Given the description of an element on the screen output the (x, y) to click on. 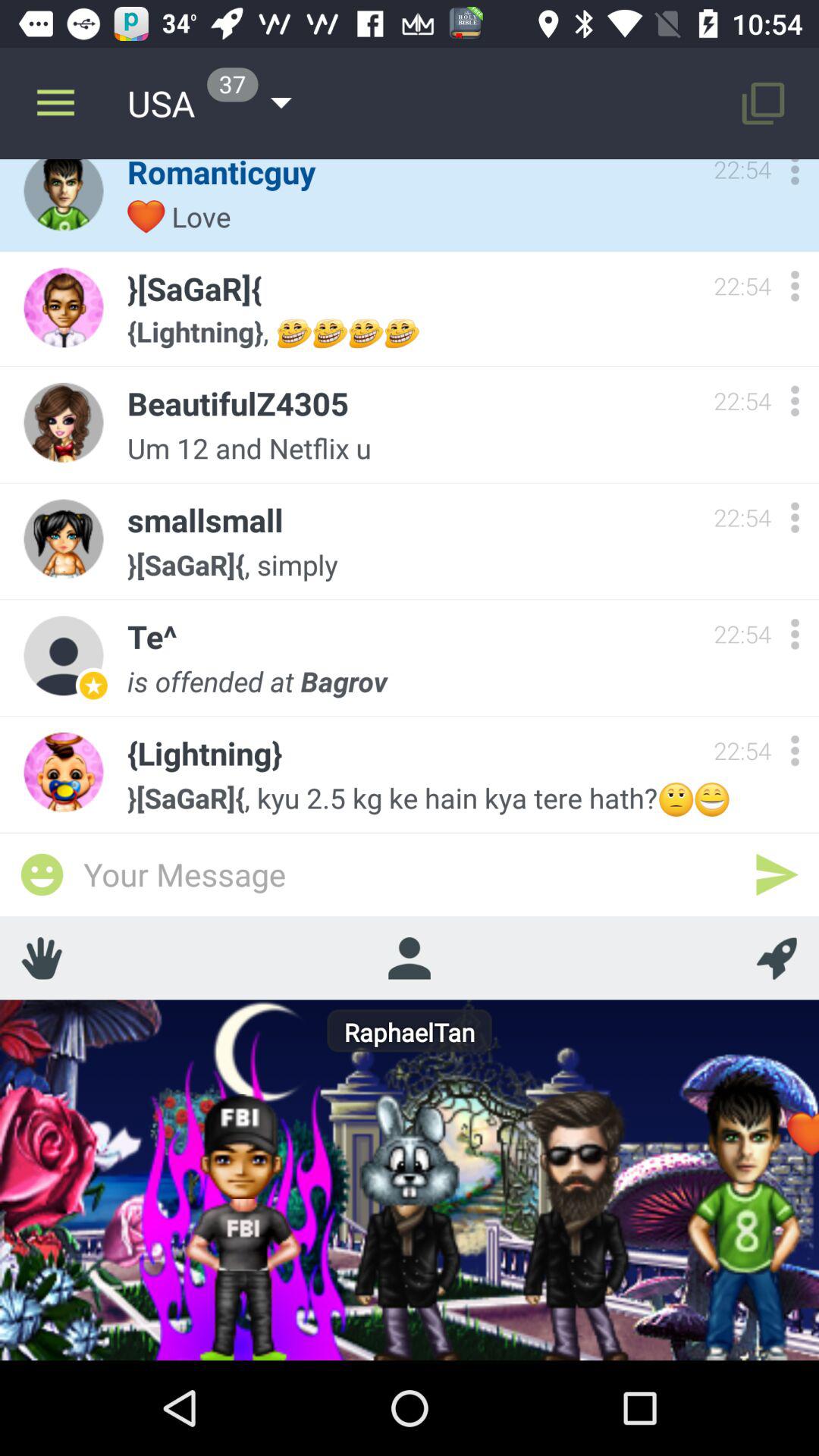
go to setting (795, 634)
